Given the description of an element on the screen output the (x, y) to click on. 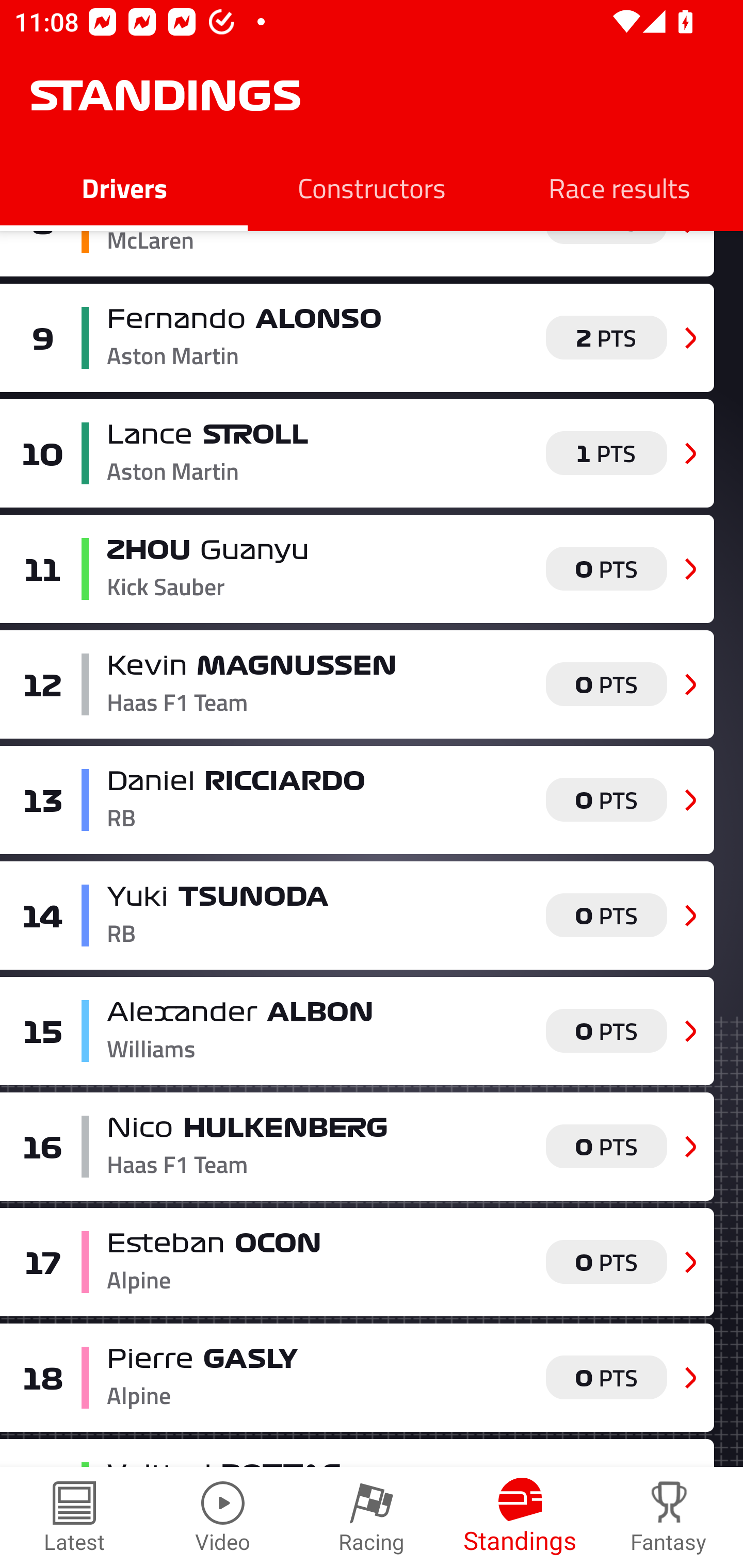
Constructors (371, 187)
Race results (619, 187)
9 Fernando ALONSO Aston Martin 2 PTS (357, 337)
10 Lance STROLL Aston Martin 1 PTS (357, 453)
11 ZHOU Guanyu Kick Sauber 0 PTS (357, 568)
12 Kevin MAGNUSSEN Haas F1 Team 0 PTS (357, 684)
13 Daniel RICCIARDO RB 0 PTS (357, 800)
14 Yuki TSUNODA RB 0 PTS (357, 914)
15 Alexander ALBON Williams 0 PTS (357, 1030)
16 Nico HULKENBERG Haas F1 Team 0 PTS (357, 1146)
17 Esteban OCON Alpine 0 PTS (357, 1261)
18 Pierre GASLY Alpine 0 PTS (357, 1377)
Latest (74, 1517)
Video (222, 1517)
Racing (371, 1517)
Fantasy (668, 1517)
